Given the description of an element on the screen output the (x, y) to click on. 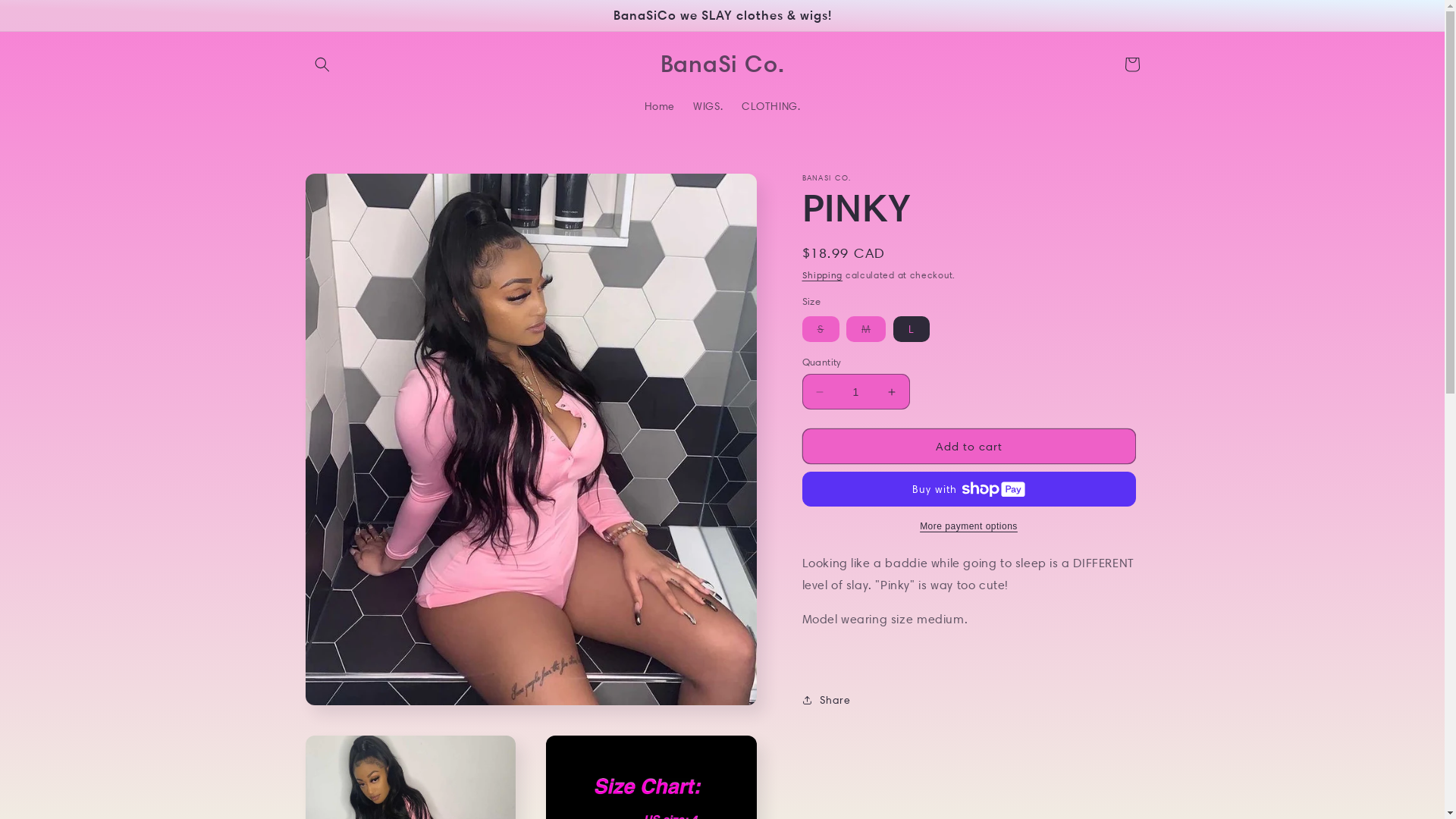
Home Element type: text (659, 105)
Skip to product information Element type: text (350, 190)
Cart Element type: text (1131, 64)
Shipping Element type: text (822, 274)
WIGS. Element type: text (708, 105)
More payment options Element type: text (968, 525)
Increase quantity for PINKY Element type: text (892, 391)
CLOTHING. Element type: text (770, 105)
https://banasico.ca/products/pinky Element type: text (892, 757)
Decrease quantity for PINKY Element type: text (819, 391)
BanaSi Co. Element type: text (722, 64)
Add to cart Element type: text (968, 446)
